Given the description of an element on the screen output the (x, y) to click on. 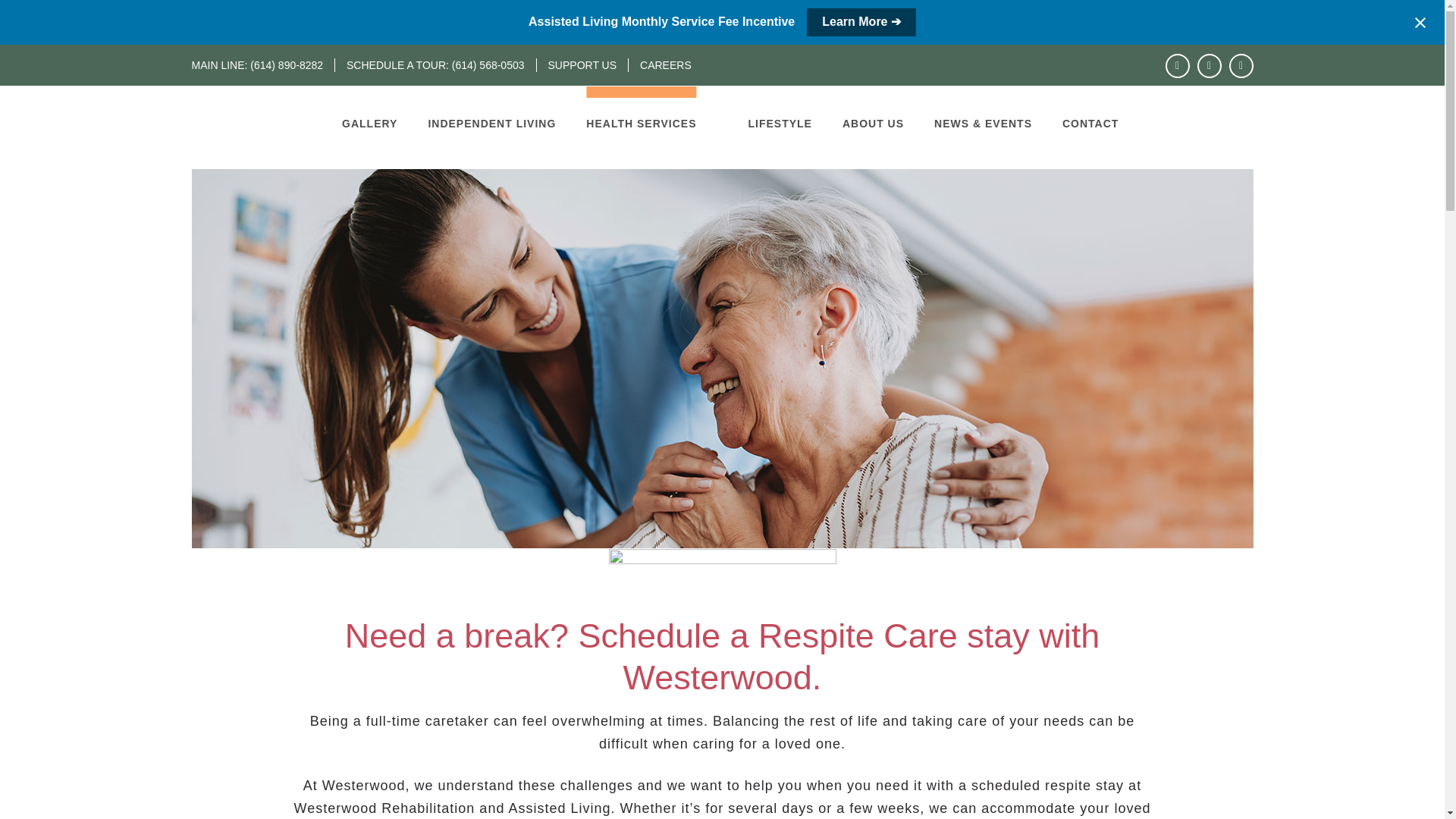
HEALTH SERVICES (640, 123)
CAREERS (659, 65)
Independent Living (491, 123)
LIFESTYLE (779, 123)
Donate (582, 65)
Health Services (640, 123)
GALLERY (377, 123)
SUPPORT US (582, 65)
ABOUT US (872, 123)
INDEPENDENT LIVING (491, 123)
